Given the description of an element on the screen output the (x, y) to click on. 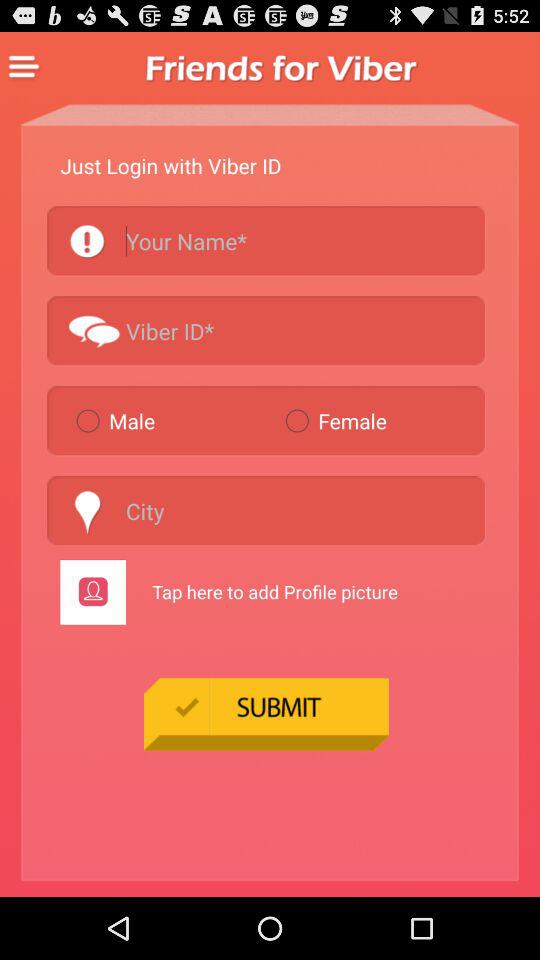
turn on the item to the right of male (380, 420)
